Given the description of an element on the screen output the (x, y) to click on. 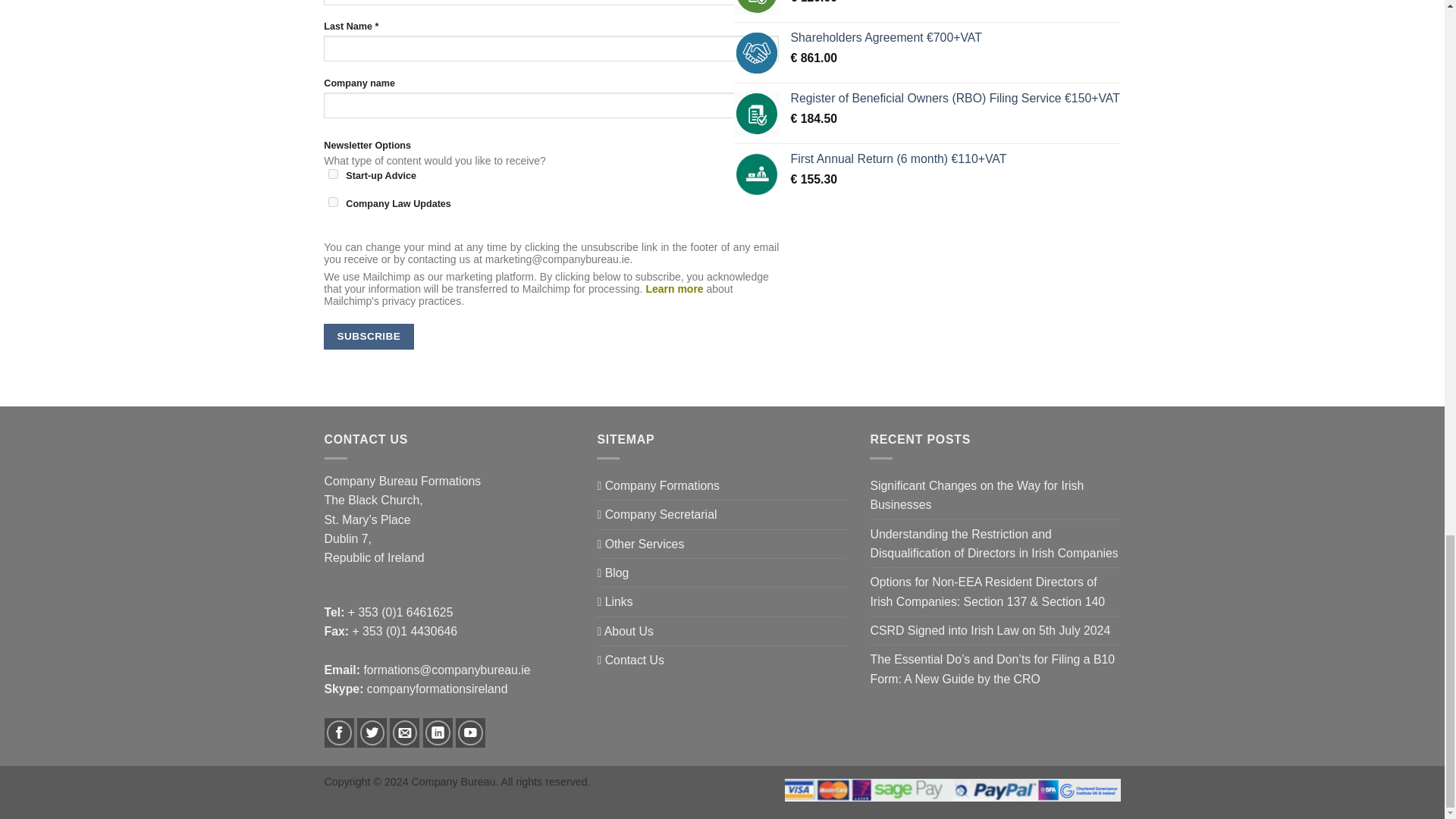
Y (333, 173)
Subscribe (368, 336)
Y (333, 202)
